Given the description of an element on the screen output the (x, y) to click on. 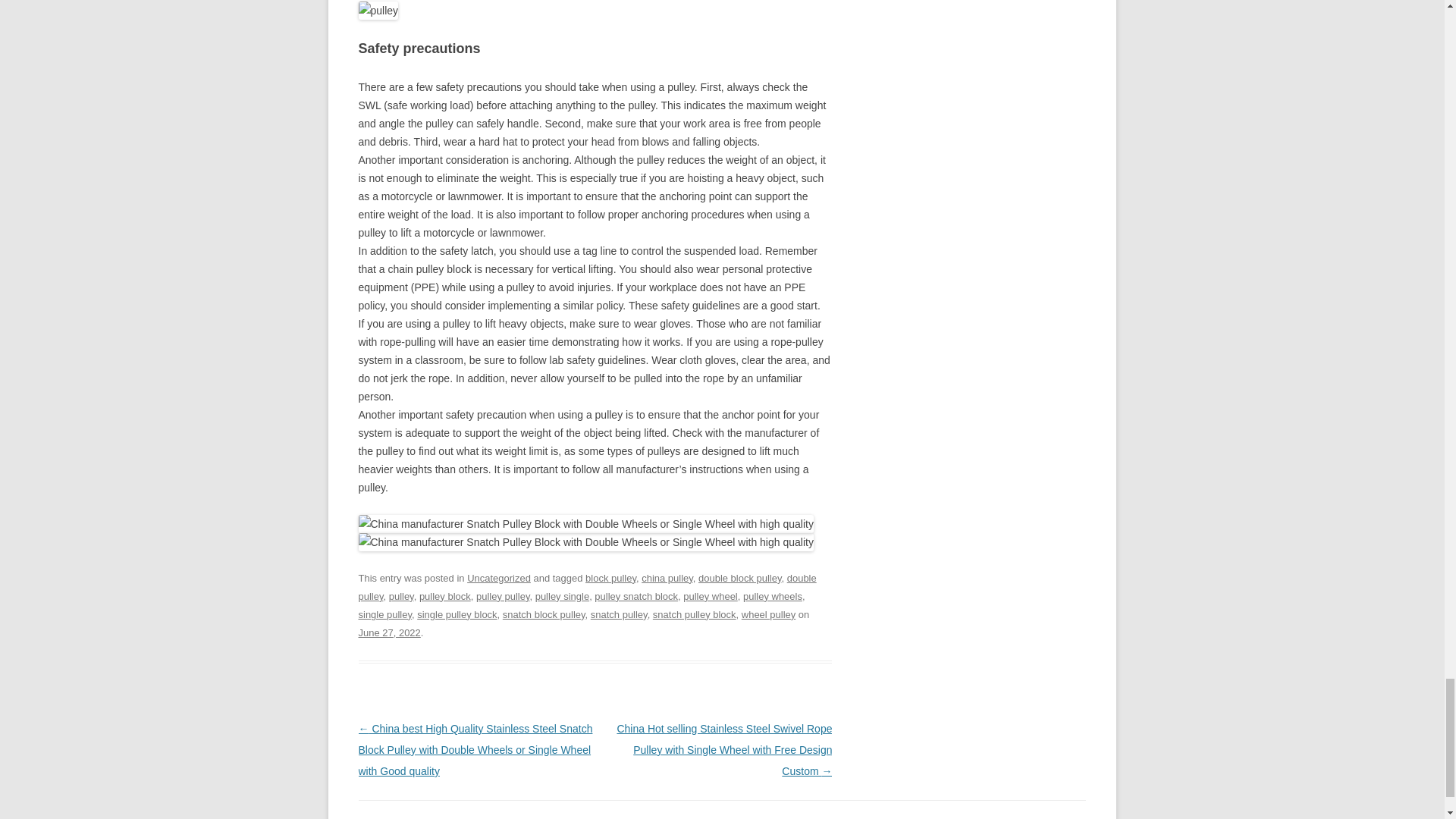
double block pulley (739, 577)
pulley (400, 595)
wheel pulley (767, 614)
single pulley block (456, 614)
china pulley (667, 577)
single pulley (385, 614)
pulley wheels (772, 595)
June 27, 2022 (389, 632)
snatch block pulley (543, 614)
snatch pulley (619, 614)
block pulley (610, 577)
pulley pulley (502, 595)
pulley single (562, 595)
snatch pulley block (694, 614)
pulley block (444, 595)
